Given the description of an element on the screen output the (x, y) to click on. 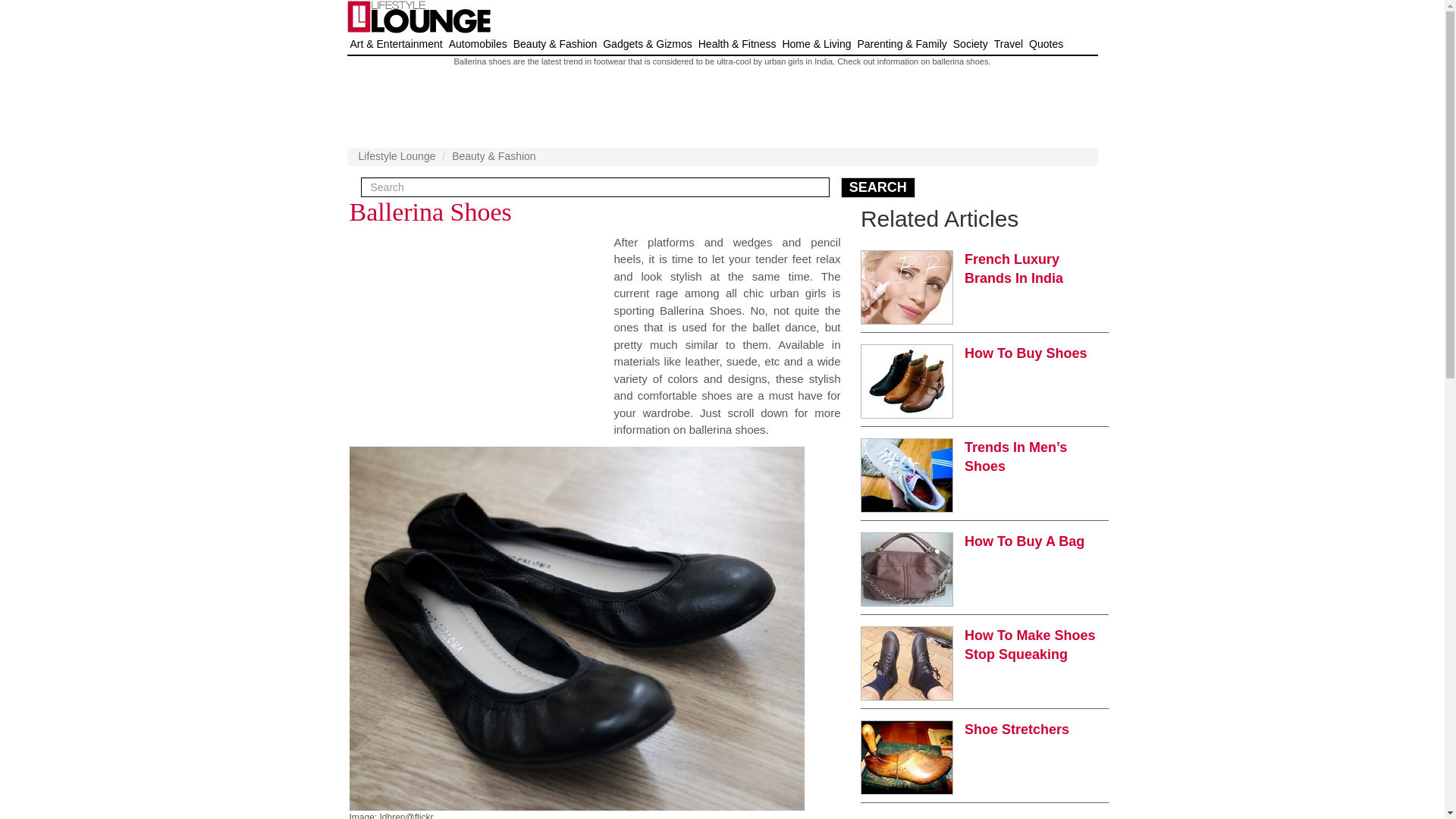
Automobiles (478, 43)
How To Make Shoes Stop Squeaking (1029, 645)
French Luxury Brands In India (1012, 268)
SEARCH (878, 188)
Quotes (1045, 43)
Lifestyle Lounge (396, 155)
Society (970, 43)
Shoe Stretchers (1015, 729)
How To Buy A Bag (1023, 540)
How To Buy Shoes (1025, 353)
Travel (1008, 43)
